Given the description of an element on the screen output the (x, y) to click on. 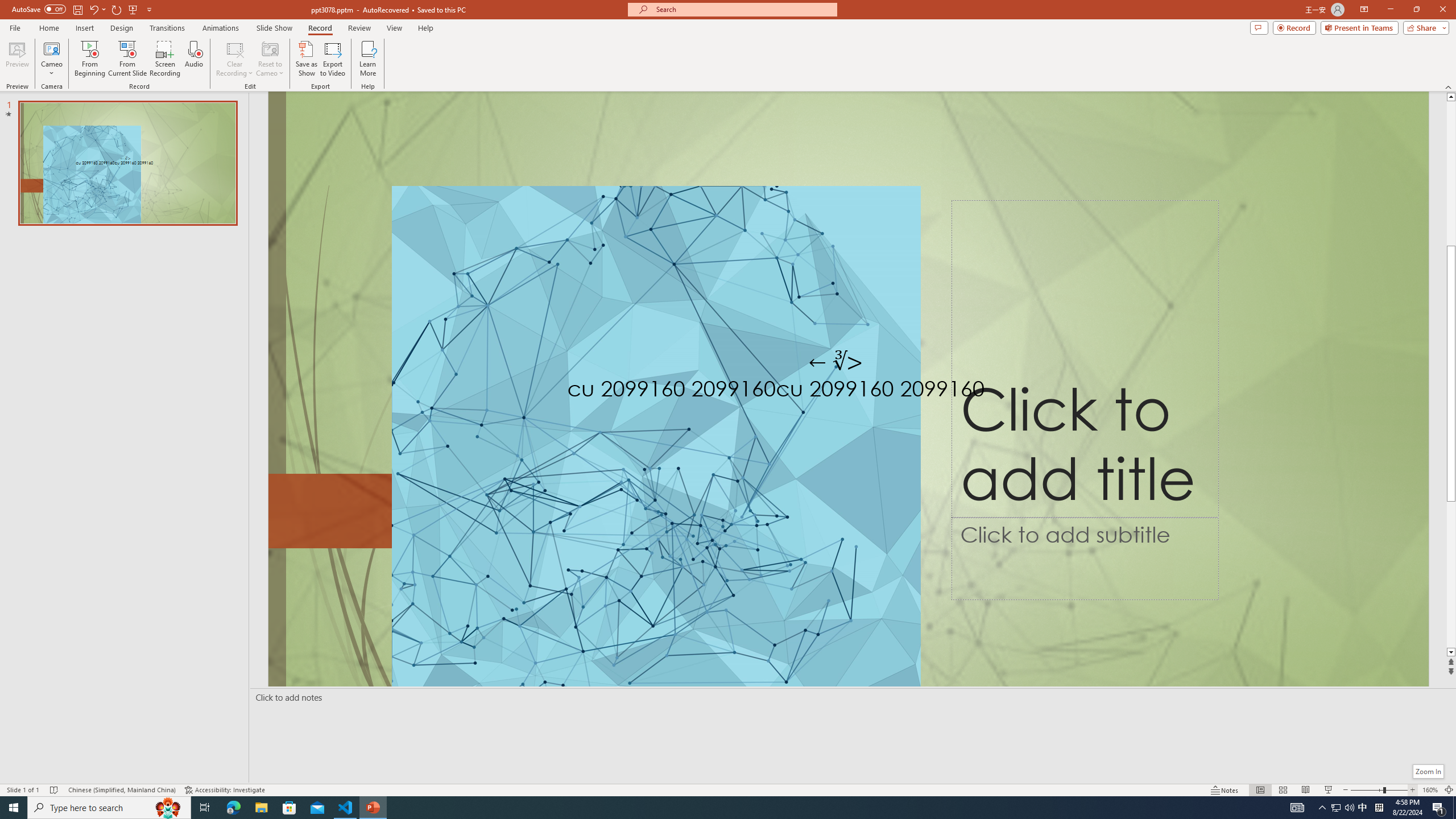
Cameo (51, 58)
Cameo (51, 48)
